Given the description of an element on the screen output the (x, y) to click on. 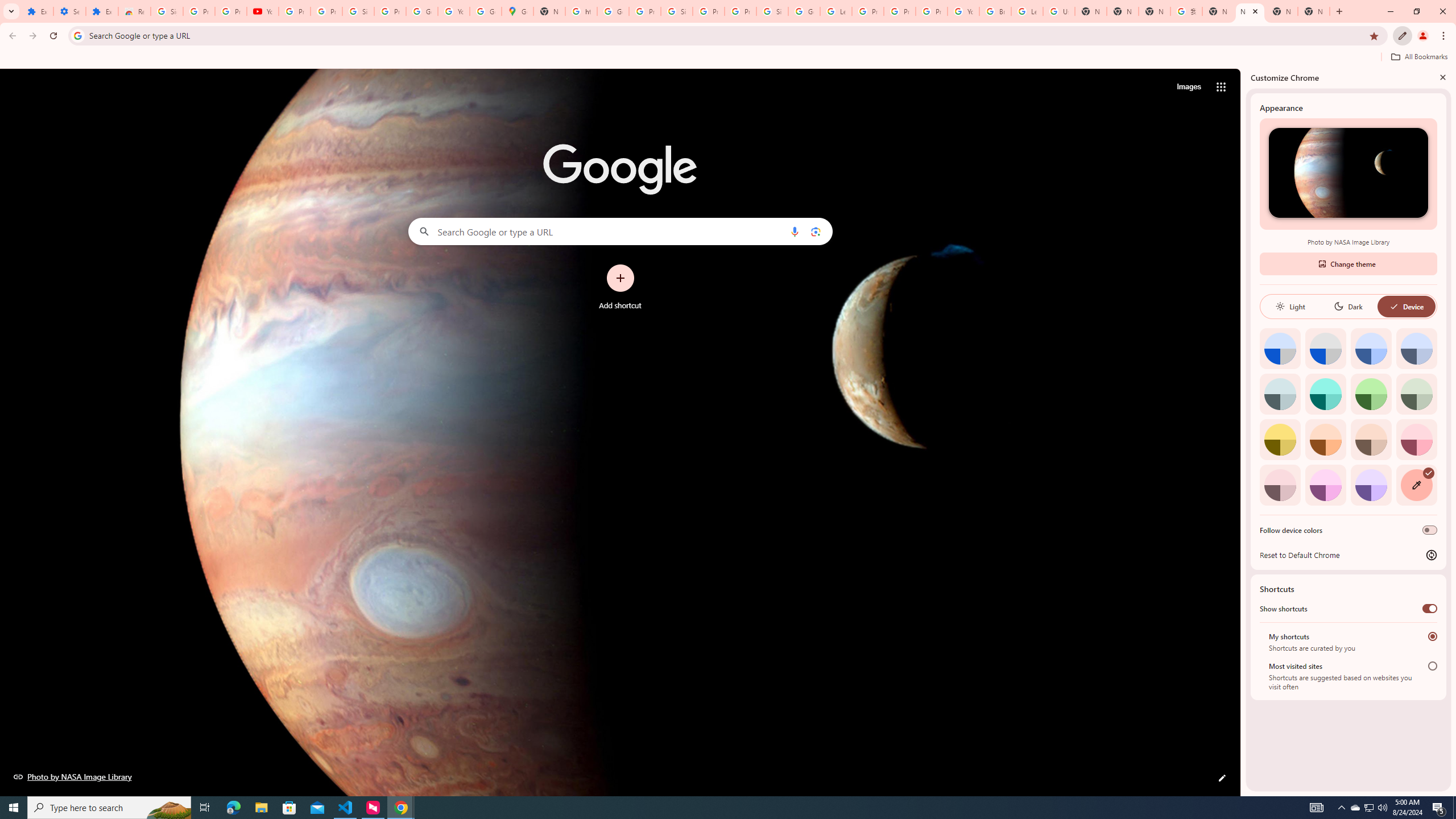
Reset to Default Chrome (1347, 554)
Aqua (1325, 393)
Show shortcuts (1429, 608)
Sign in - Google Accounts (358, 11)
Grey (1279, 393)
Device (1406, 305)
Add shortcut (620, 287)
Blue (1371, 348)
Customize this page (1221, 778)
Violet (1371, 484)
